Given the description of an element on the screen output the (x, y) to click on. 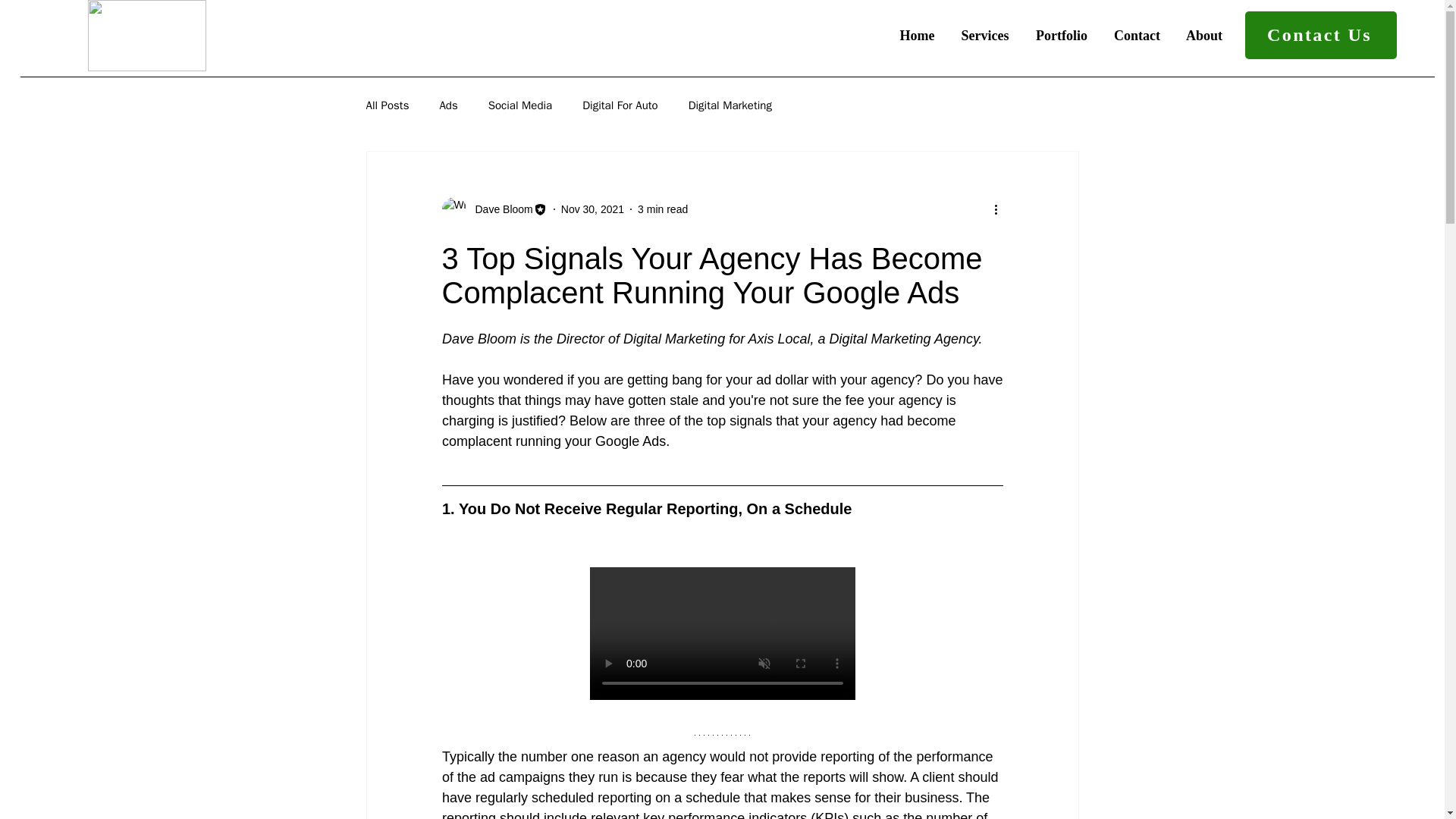
Dave Bloom (498, 209)
About (1203, 35)
Contact (1136, 35)
3 min read (662, 209)
Digital For Auto (620, 105)
Ads (448, 105)
Digital Marketing (729, 105)
Home (916, 35)
Portfolio (1061, 35)
Nov 30, 2021 (592, 209)
Dave Bloom (494, 209)
All Posts (387, 105)
Social Media (519, 105)
Contact Us (1320, 34)
Services (985, 35)
